Given the description of an element on the screen output the (x, y) to click on. 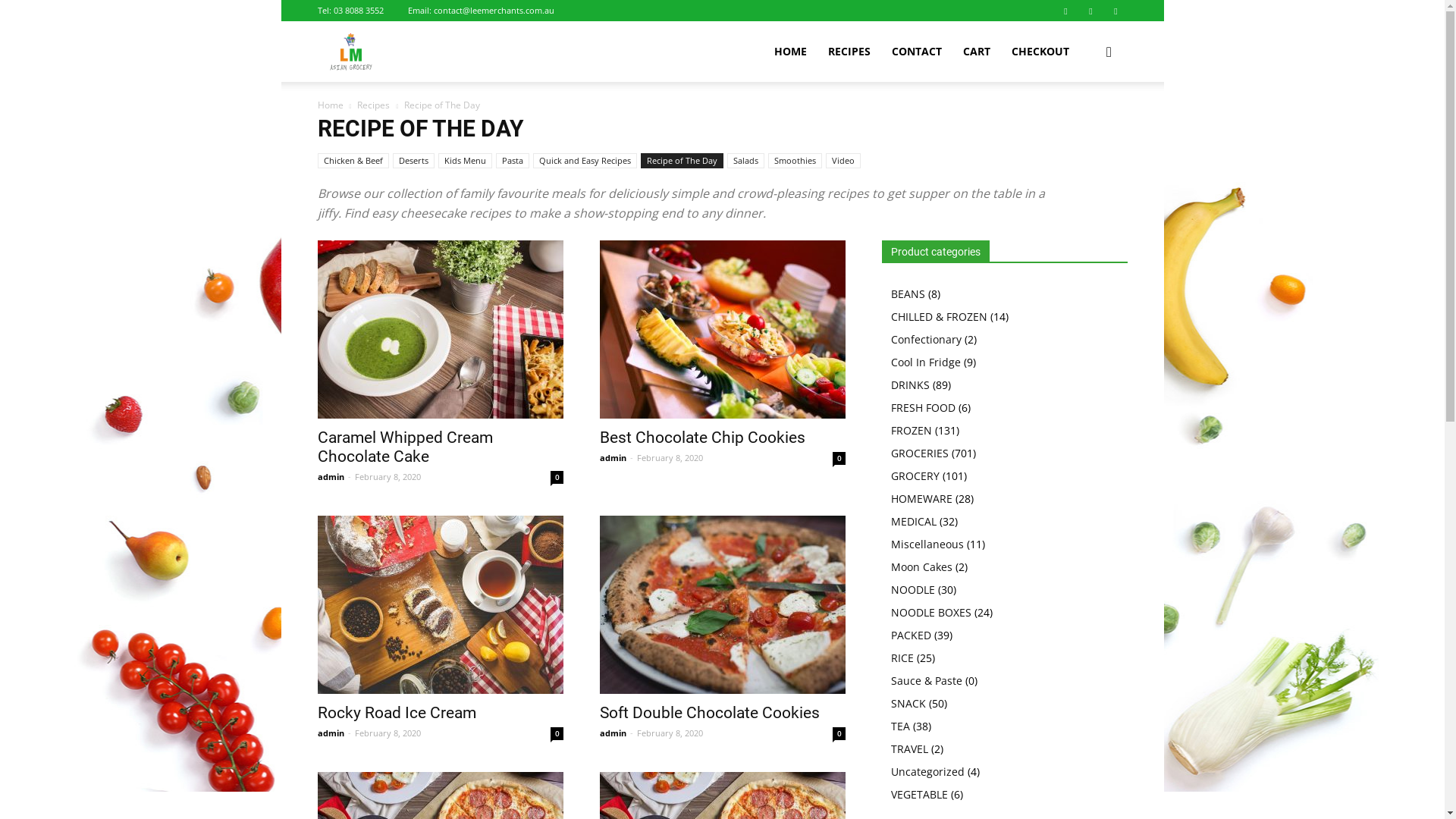
HOMEWARE Element type: text (920, 498)
Facebook Element type: hover (1065, 10)
NOODLE Element type: text (912, 589)
Recipe of The Day Element type: text (681, 160)
Rocky Road Ice Cream Element type: text (395, 712)
Recipes Element type: text (373, 104)
GROCERIES Element type: text (918, 452)
03 8088 3552 Element type: text (358, 9)
Smoothies Element type: text (794, 160)
0 Element type: text (838, 457)
GROCERY Element type: text (914, 475)
TRAVEL Element type: text (908, 748)
0 Element type: text (556, 476)
PACKED Element type: text (910, 634)
FRESH FOOD Element type: text (922, 407)
Best Chocolate Chip Cookies Element type: text (701, 437)
0 Element type: text (556, 733)
admin Element type: text (612, 732)
Sauce & Paste Element type: text (925, 680)
Deserts Element type: text (413, 160)
MEDICAL Element type: text (912, 521)
Best Chocolate Chip Cookies Element type: hover (721, 329)
Video Element type: text (842, 160)
VEGETABLE Element type: text (918, 794)
Search Element type: text (1085, 124)
Home Element type: text (329, 104)
RECIPES Element type: text (849, 51)
0 Element type: text (838, 733)
FROZEN Element type: text (910, 430)
Chicken & Beef Element type: text (352, 160)
Caramel Whipped Cream Chocolate Cake Element type: text (404, 446)
admin Element type: text (329, 732)
TEA Element type: text (899, 725)
Pasta Element type: text (512, 160)
CHECKOUT Element type: text (1040, 51)
Quick and Easy Recipes Element type: text (584, 160)
Mail Element type: hover (1090, 10)
HOME Element type: text (789, 51)
RICE Element type: text (901, 657)
Confectionary Element type: text (925, 339)
Moon Cakes Element type: text (920, 566)
DRINKS Element type: text (909, 384)
BEANS Element type: text (907, 293)
Caramel Whipped Cream Chocolate Cake Element type: hover (439, 329)
Youtube Element type: hover (1115, 10)
SNACK Element type: text (907, 703)
Miscellaneous Element type: text (926, 543)
contact@leemerchants.com.au Element type: text (493, 9)
CHILLED & FROZEN Element type: text (938, 316)
Soft Double Chocolate Cookies Element type: hover (721, 604)
Cool In Fridge Element type: text (925, 361)
Rocky Road Ice Cream Element type: hover (439, 604)
CONTACT Element type: text (916, 51)
LM Asian Grocery Element type: text (350, 51)
Uncategorized Element type: text (926, 771)
Kids Menu Element type: text (465, 160)
admin Element type: text (612, 457)
CART Element type: text (976, 51)
admin Element type: text (329, 476)
NOODLE BOXES Element type: text (930, 612)
Soft Double Chocolate Cookies Element type: text (709, 712)
Salads Element type: text (744, 160)
